Given the description of an element on the screen output the (x, y) to click on. 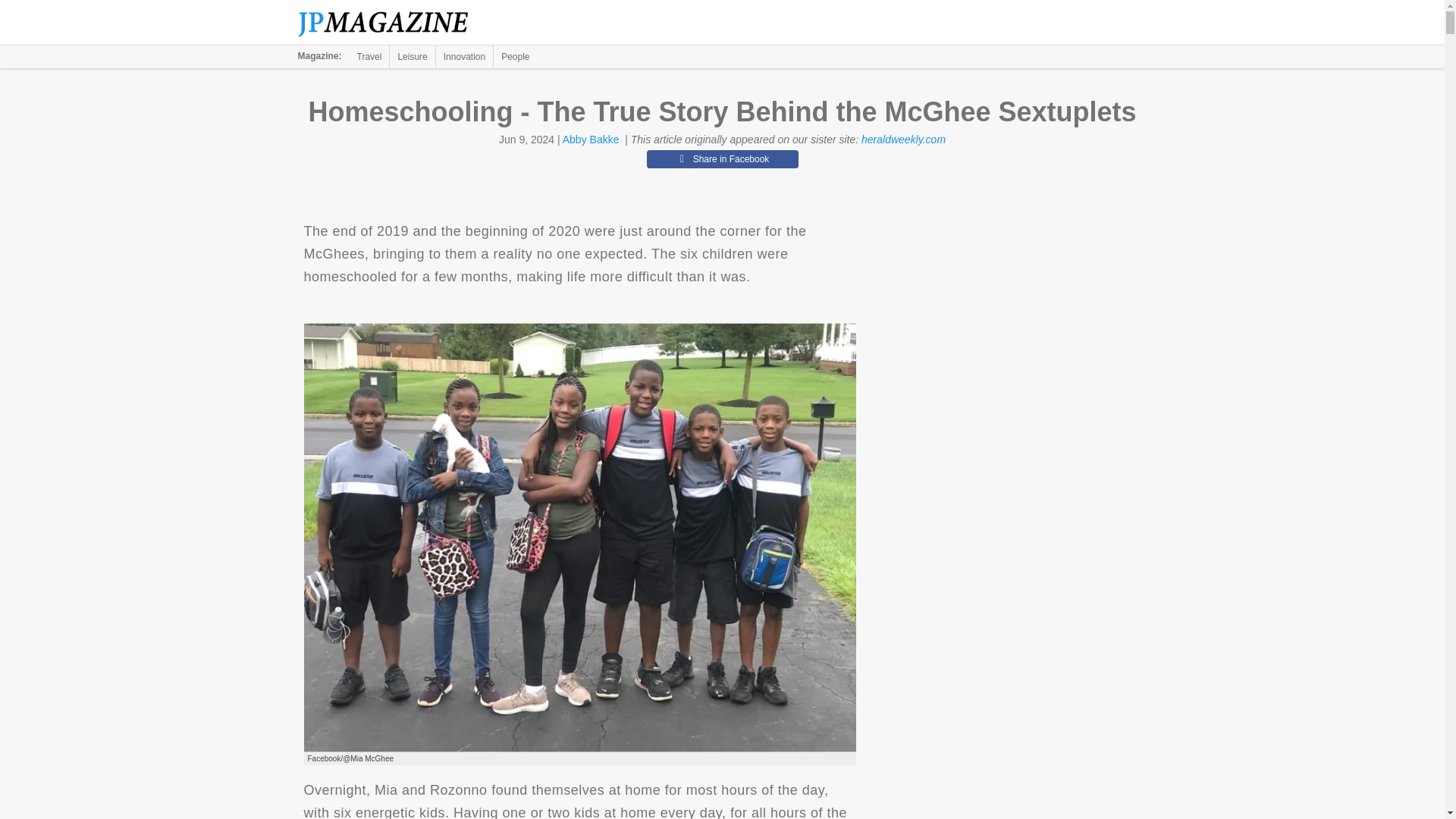
Abby Bakke (591, 139)
People (515, 56)
Leisure (411, 56)
Share in Facebook (721, 158)
Innovation (464, 56)
heraldweekly.com (902, 139)
The Jerusalem Post Magazine (391, 22)
Travel (369, 56)
